Given the description of an element on the screen output the (x, y) to click on. 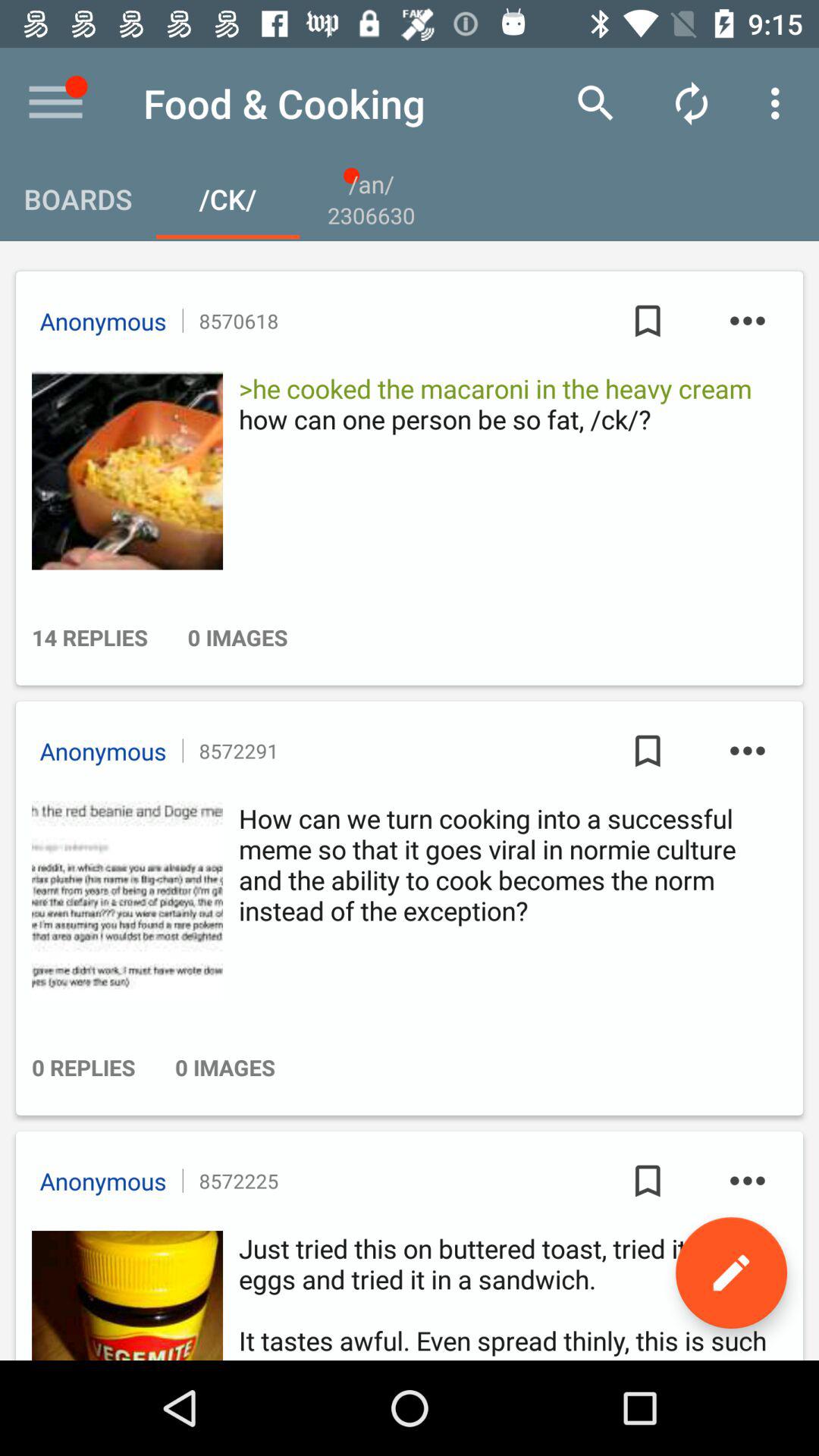
profile photo (122, 1295)
